Given the description of an element on the screen output the (x, y) to click on. 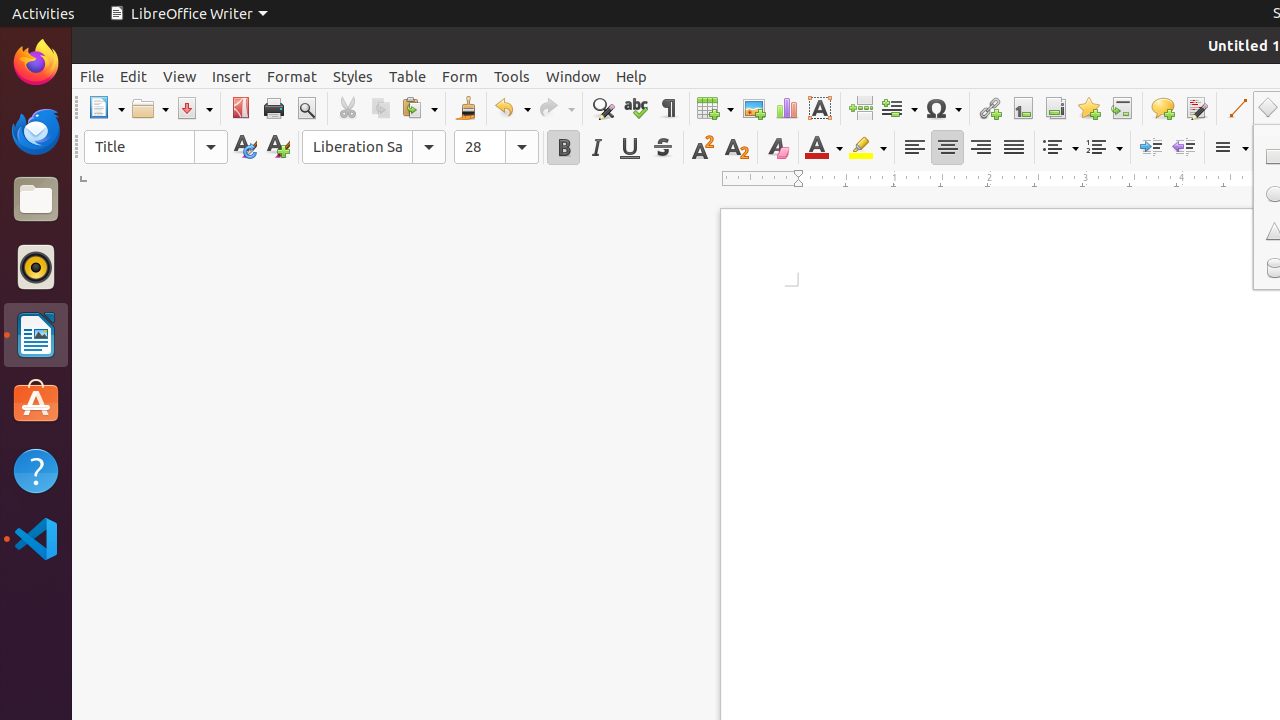
Ubuntu Software Element type: push-button (36, 402)
Styles Element type: menu (353, 76)
Page Break Element type: push-button (860, 108)
Field Element type: push-button (899, 108)
Right Element type: toggle-button (980, 147)
